Given the description of an element on the screen output the (x, y) to click on. 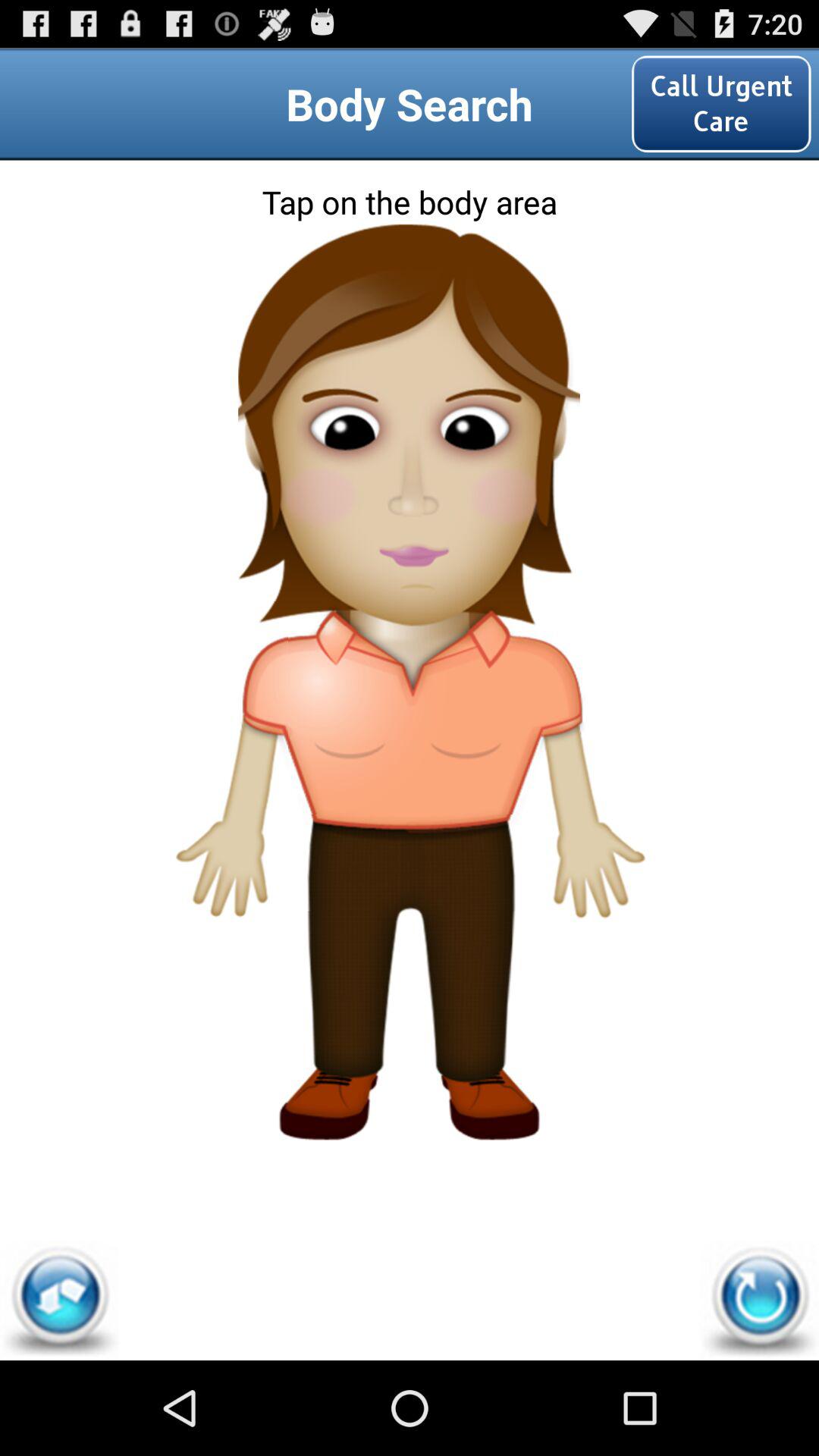
human hips (409, 862)
